Given the description of an element on the screen output the (x, y) to click on. 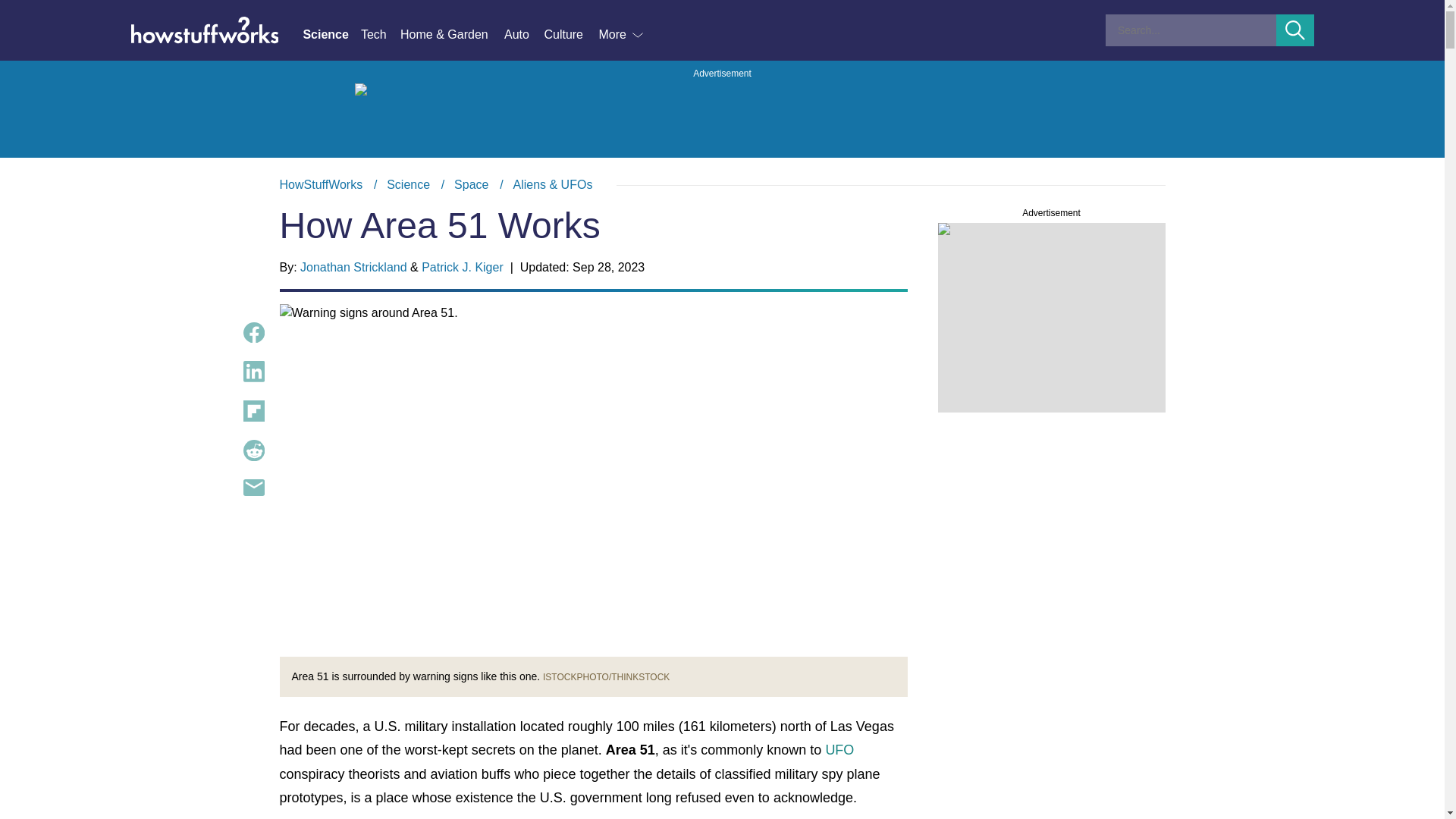
Science (408, 184)
Submit Search (1295, 29)
Share Content on Flipboard (253, 410)
More (621, 34)
Share Content on Reddit (253, 450)
Science (330, 34)
Tech (380, 34)
Auto (523, 34)
Share Content via Email (253, 487)
Share Content on Facebook (253, 332)
Culture (570, 34)
Share Content on LinkedIn (253, 371)
Space (470, 184)
HowStuffWorks (320, 184)
